Given the description of an element on the screen output the (x, y) to click on. 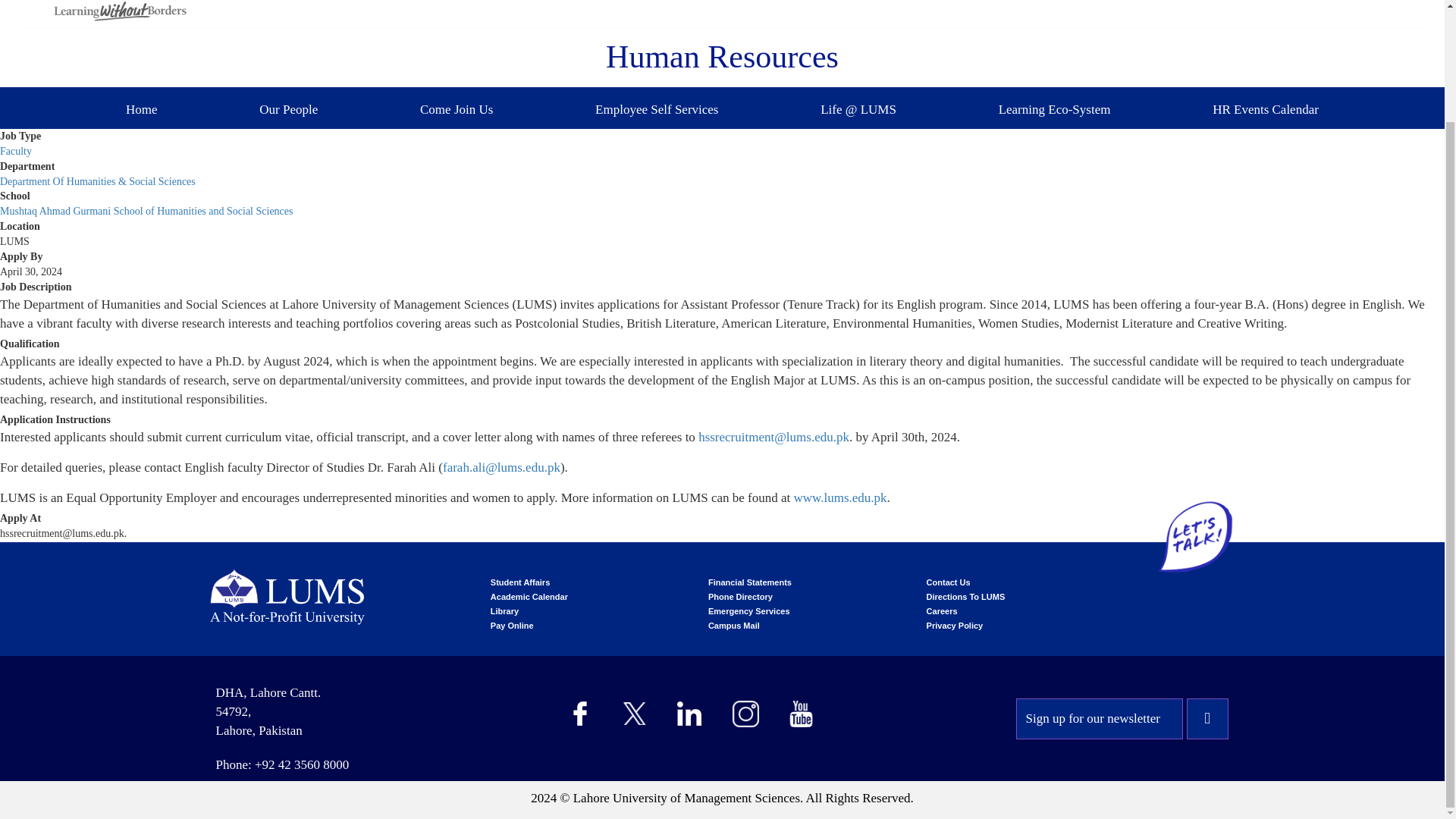
Learning without Borders (118, 10)
